Given the description of an element on the screen output the (x, y) to click on. 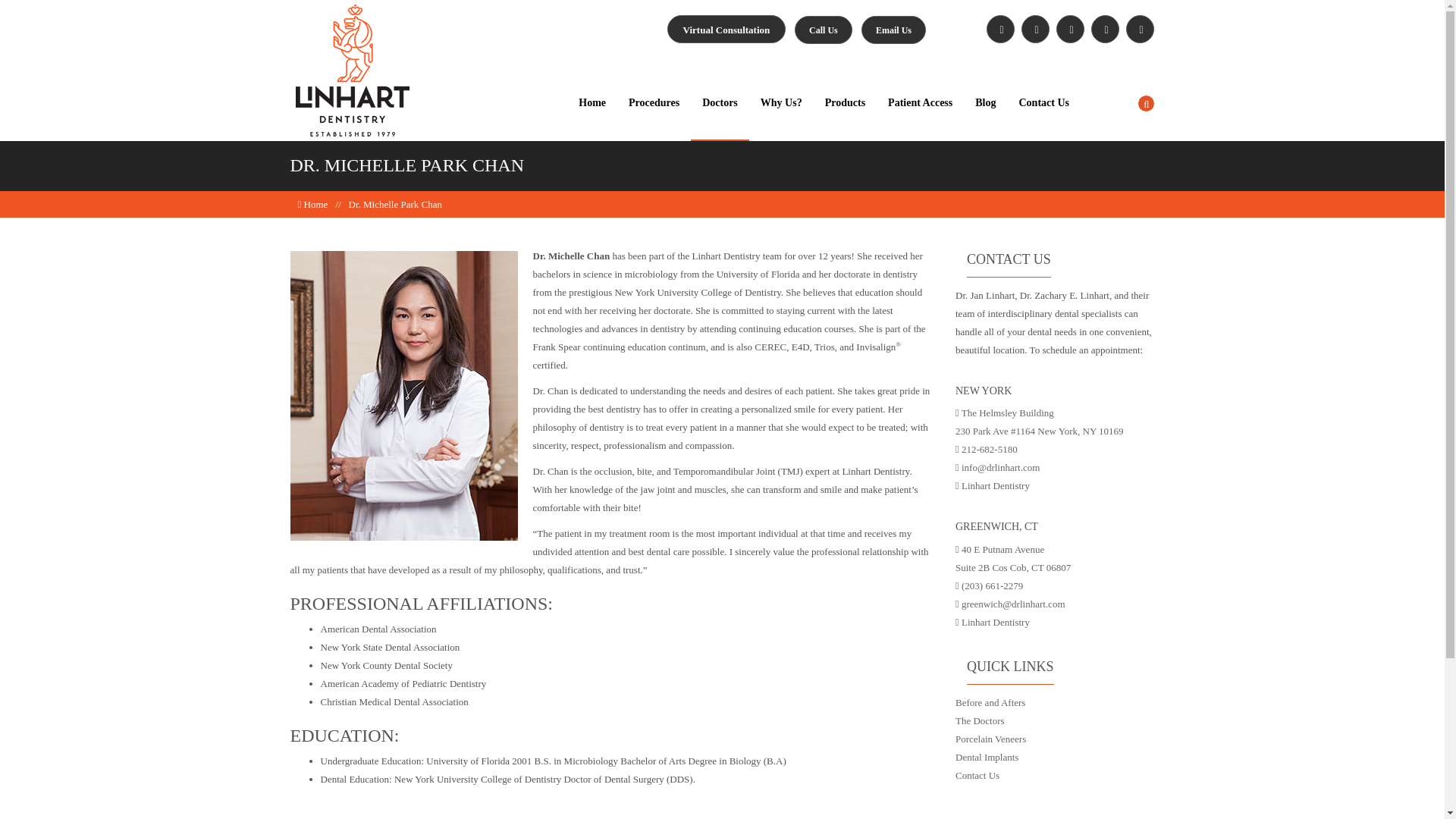
Porcelain Veneers (990, 738)
